Given the description of an element on the screen output the (x, y) to click on. 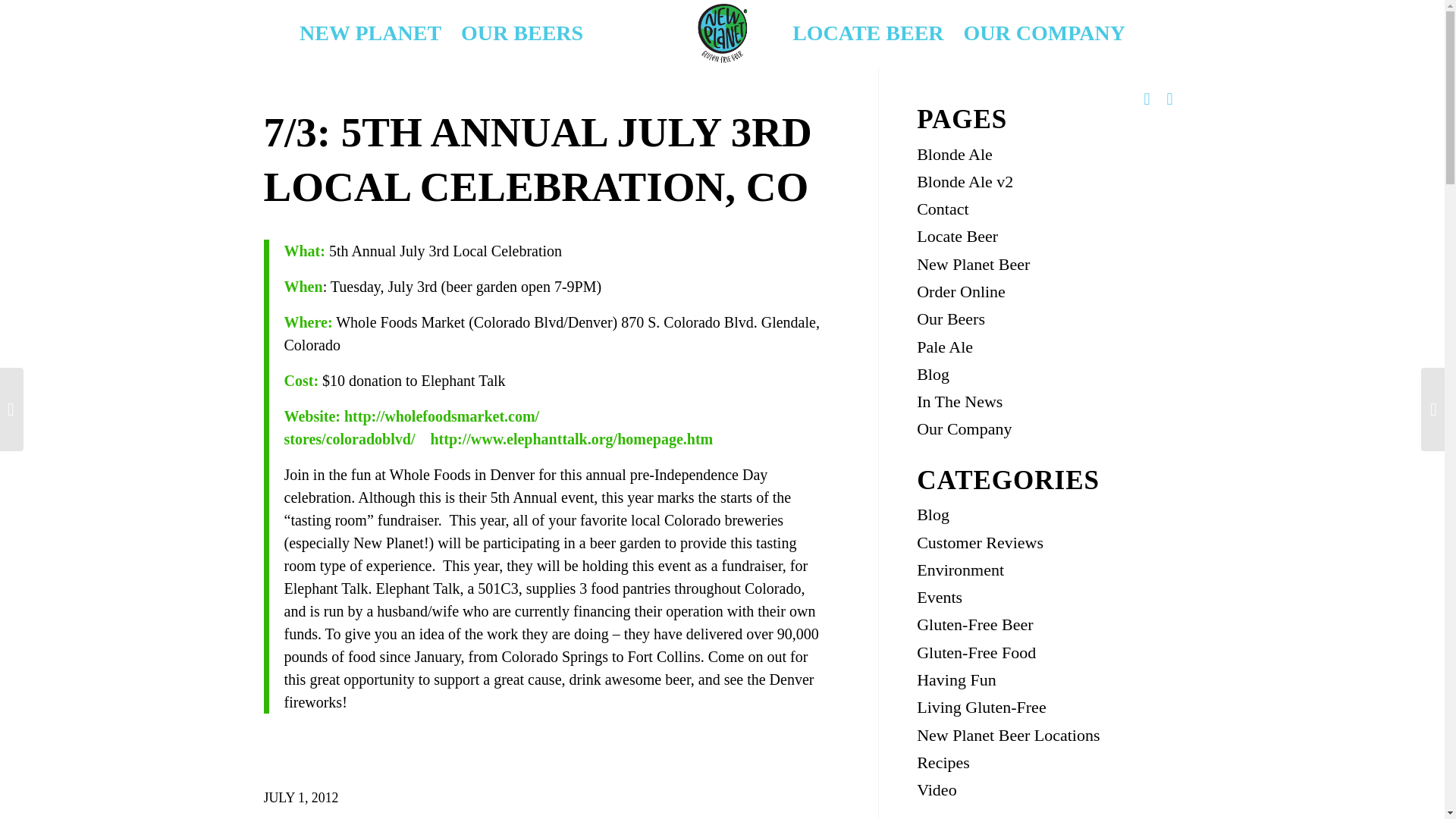
Blog (933, 374)
Facebook (1169, 98)
Instagram (1146, 98)
Order Online (961, 291)
New Planet Beer (973, 263)
Contact (942, 208)
Blonde Ale v2 (965, 180)
Blonde Ale (954, 153)
OUR COMPANY (1044, 33)
Our Beers (951, 318)
In The News (960, 401)
Customer Reviews (980, 542)
Locate Beer (957, 235)
NEW PLANET (370, 33)
OUR BEERS (521, 33)
